Given the description of an element on the screen output the (x, y) to click on. 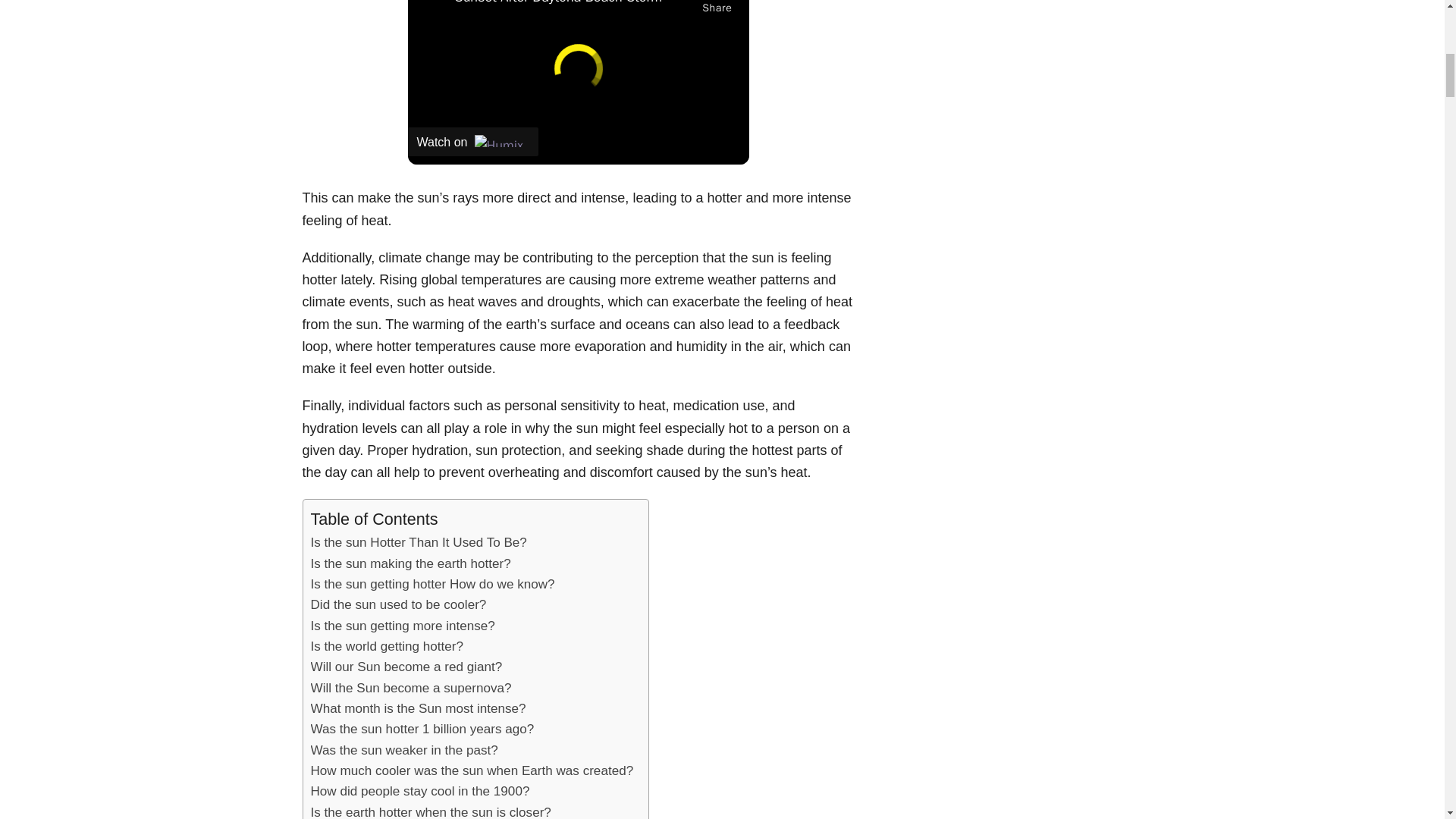
Share (716, 8)
Was the sun hotter 1 billion years ago? (422, 729)
Is the sun making the earth hotter? (411, 563)
Is the sun Hotter Than It Used To Be? (419, 542)
Watch on (472, 141)
Did the sun used to be cooler? (398, 604)
What month is the Sun most intense? (418, 708)
How much cooler was the sun when Earth was created? (472, 770)
Did the sun used to be cooler? (398, 604)
Will our Sun become a red giant? (406, 666)
